Given the description of an element on the screen output the (x, y) to click on. 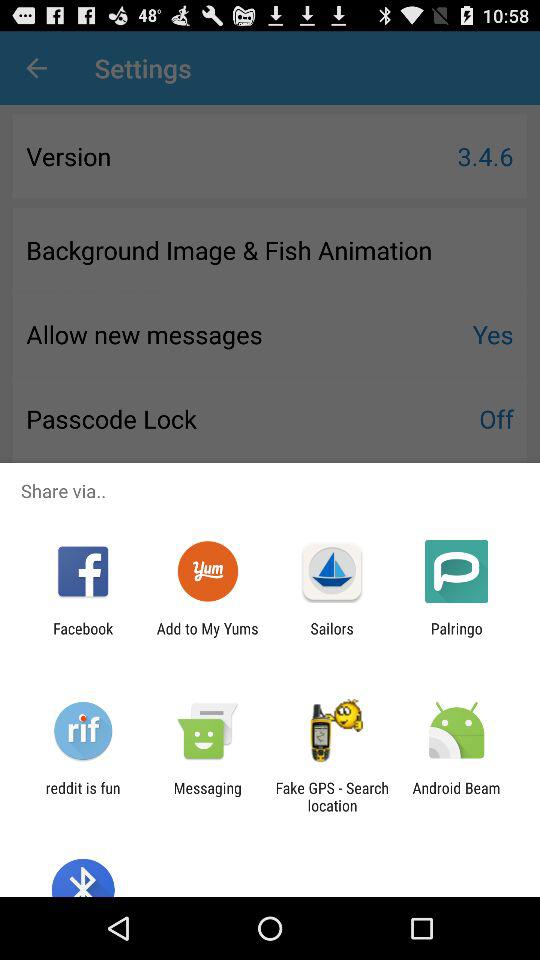
turn on item next to the android beam icon (332, 796)
